Given the description of an element on the screen output the (x, y) to click on. 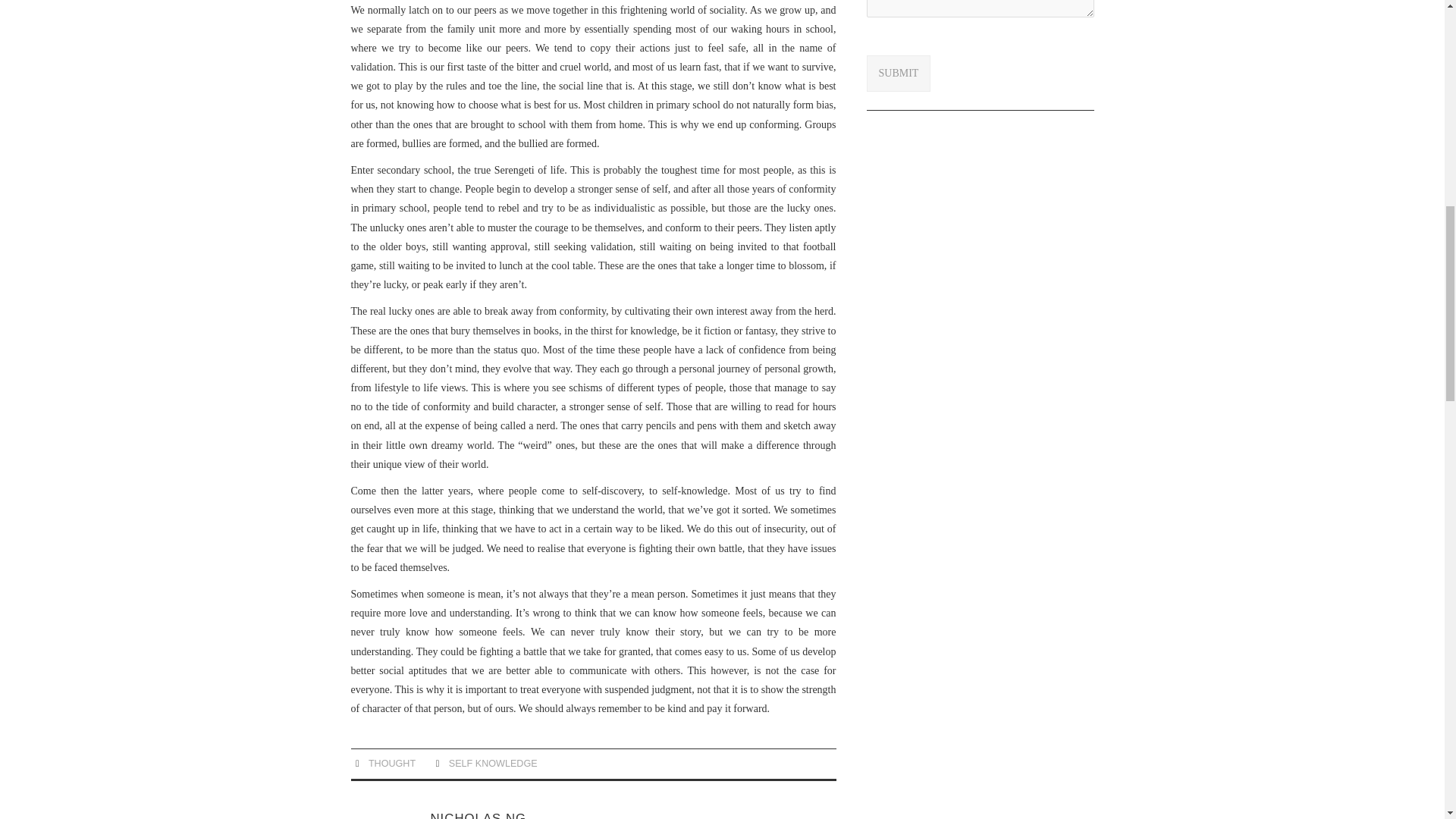
THOUGHT (391, 763)
SELF KNOWLEDGE (492, 763)
